Given the description of an element on the screen output the (x, y) to click on. 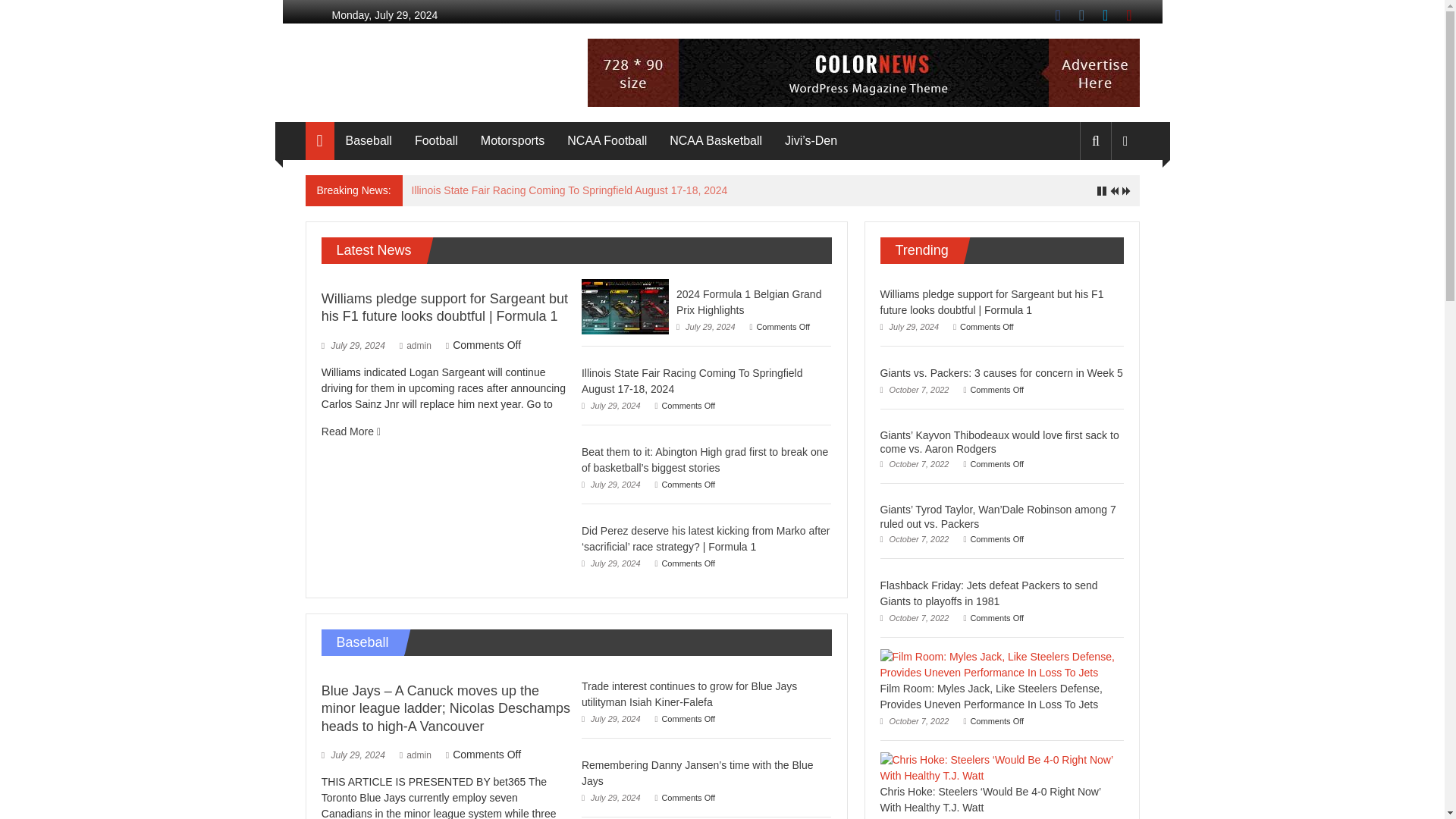
NCAA Basketball (715, 140)
4:02 pm (353, 345)
admin (418, 345)
2024 Formula 1 Belgian Grand Prix Highlights (749, 302)
2024 Formula 1 Belgian Grand Prix Highlights (624, 305)
admin (418, 345)
Read More (350, 431)
4:02 pm (706, 326)
2024 Formula 1 Belgian Grand Prix Highlights (624, 306)
2024 Formula 1 Belgian Grand Prix Highlights (749, 302)
Baseball (368, 140)
July 29, 2024 (610, 483)
July 29, 2024 (353, 345)
